Given the description of an element on the screen output the (x, y) to click on. 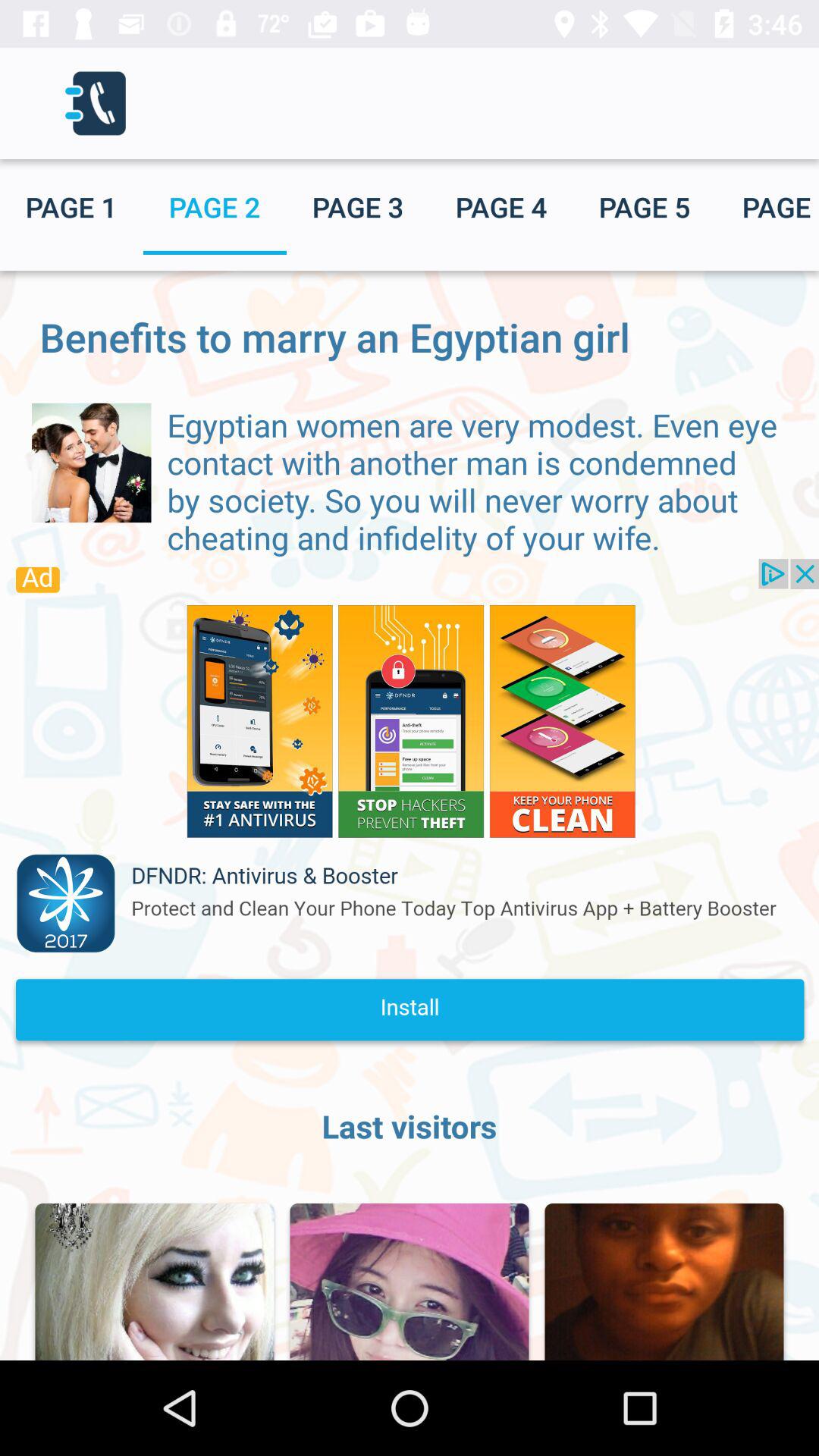
advertisement button (409, 807)
